Given the description of an element on the screen output the (x, y) to click on. 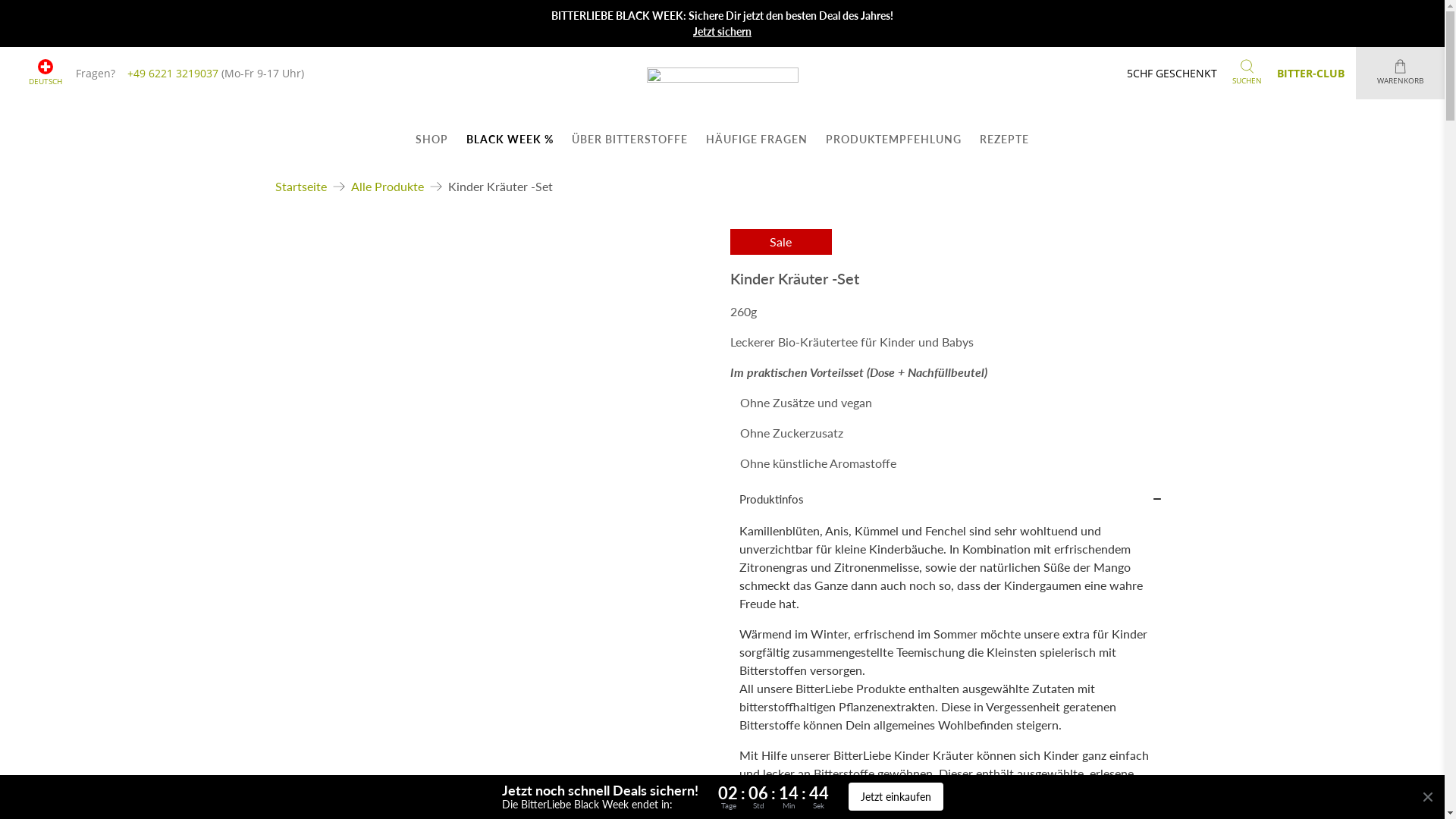
Alle Produkte Element type: text (386, 186)
WARENKORB Element type: text (1399, 73)
BitterLiebe CH Element type: hover (721, 89)
Startseite Element type: text (300, 186)
REZEPTE Element type: text (1004, 139)
DEUTSCH Element type: text (45, 73)
Produktinfos Element type: text (940, 499)
+49 6221 3219037 Element type: text (172, 72)
SUCHEN Element type: text (1246, 73)
Jetzt sichern Element type: text (722, 31)
SHOP Element type: text (431, 139)
BITTER-CLUB Element type: text (1310, 73)
Jetzt einkaufen Element type: text (894, 796)
BLACK WEEK % Element type: text (509, 139)
PRODUKTEMPFEHLUNG Element type: text (893, 139)
